Given the description of an element on the screen output the (x, y) to click on. 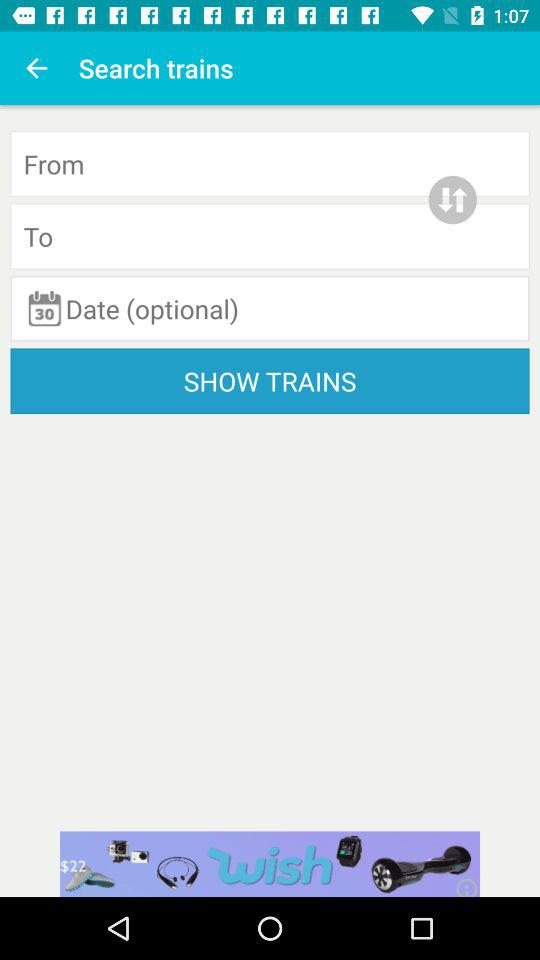
date (269, 308)
